Given the description of an element on the screen output the (x, y) to click on. 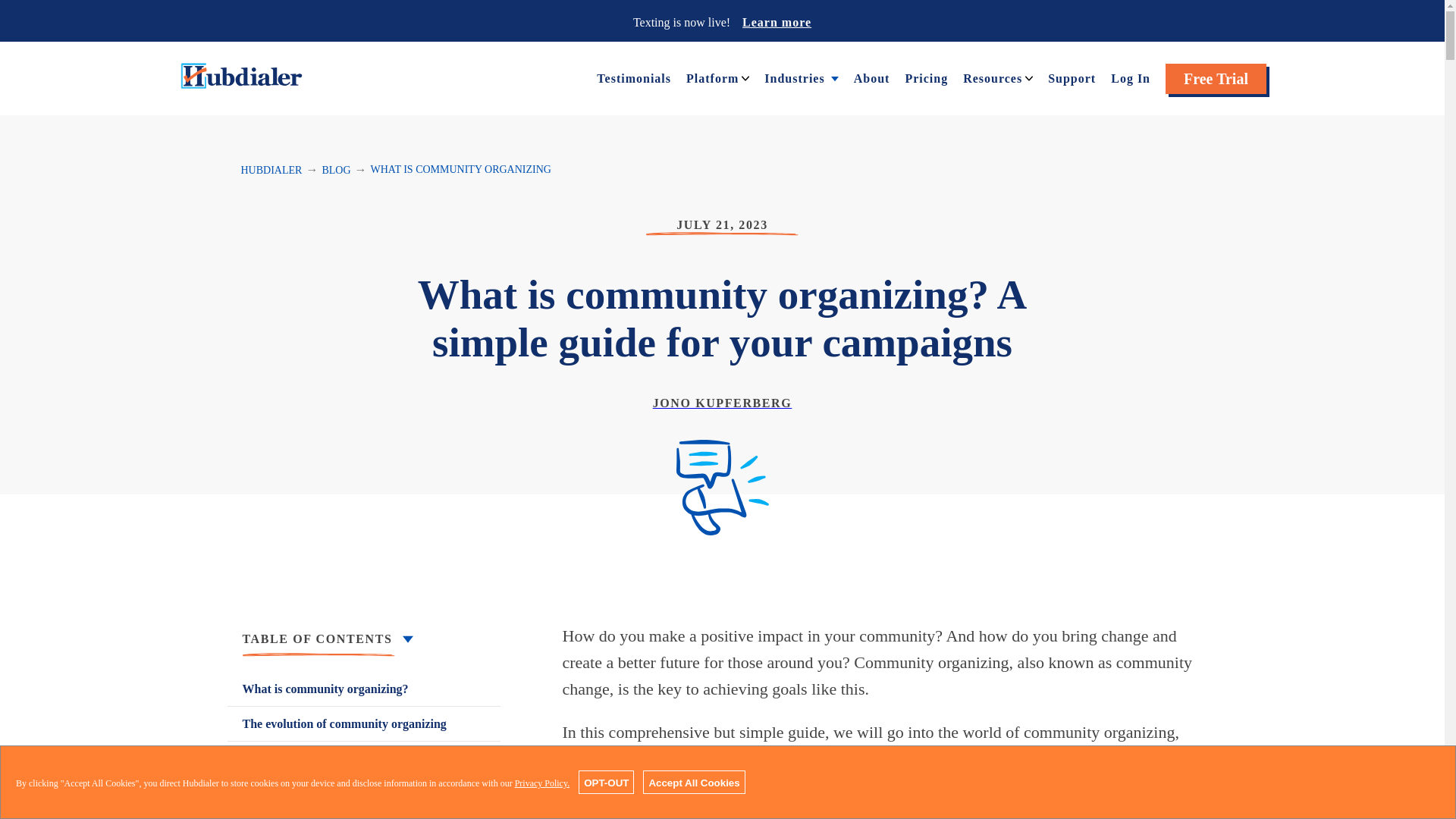
What are the other steps in successful community organizing? (363, 807)
The evolution of community organizing (363, 723)
BLOG (335, 170)
Industries (794, 77)
Free Trial (1216, 78)
Privacy Policy. (542, 783)
Support (1072, 77)
Log In (1130, 77)
OPT-OUT (605, 781)
Learn more (776, 21)
Platform (711, 77)
About (871, 77)
What is community organizing? (363, 688)
Testimonials (633, 77)
